Given the description of an element on the screen output the (x, y) to click on. 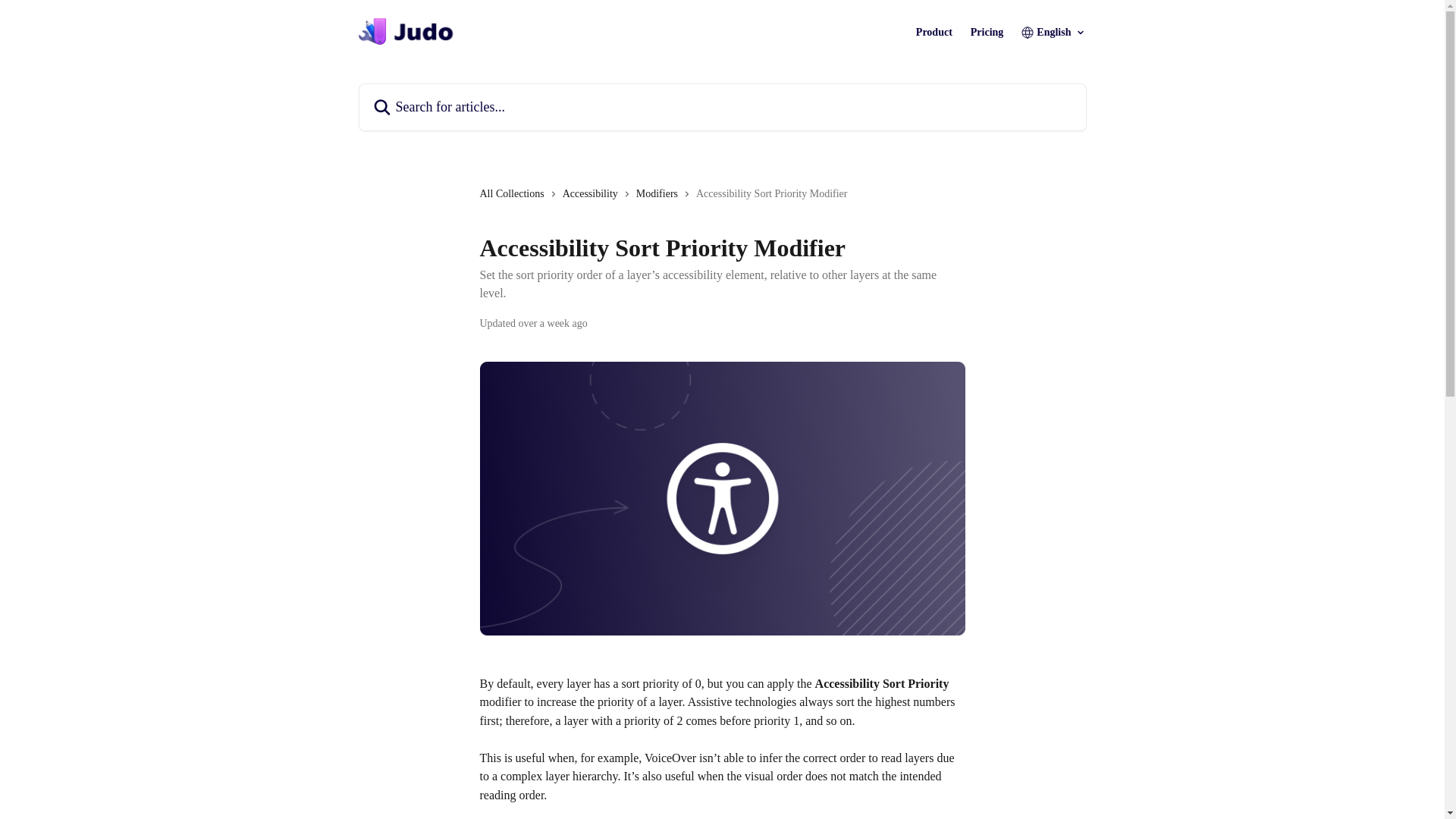
Modifiers (660, 193)
Product (933, 32)
Pricing (987, 32)
Accessibility (593, 193)
All Collections (514, 193)
